Given the description of an element on the screen output the (x, y) to click on. 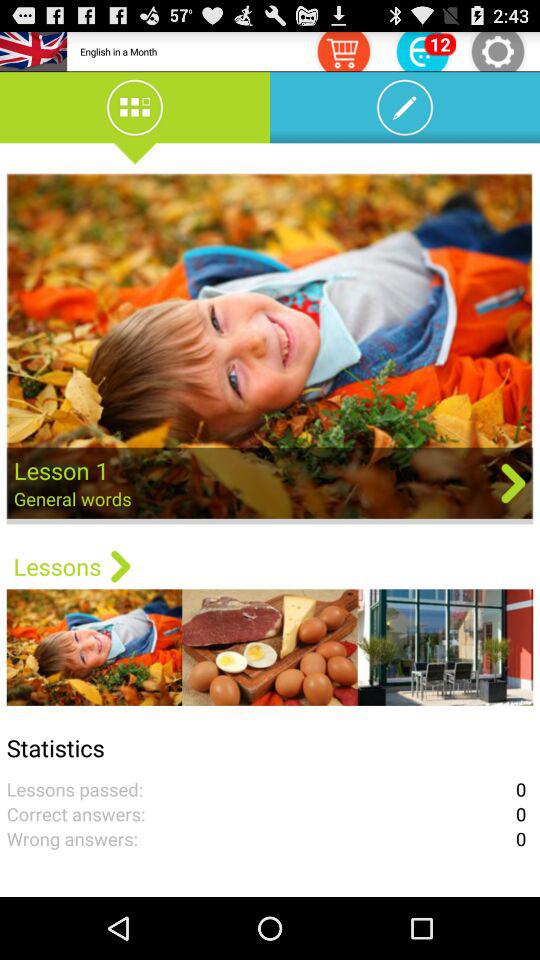
go to settings (497, 50)
